Given the description of an element on the screen output the (x, y) to click on. 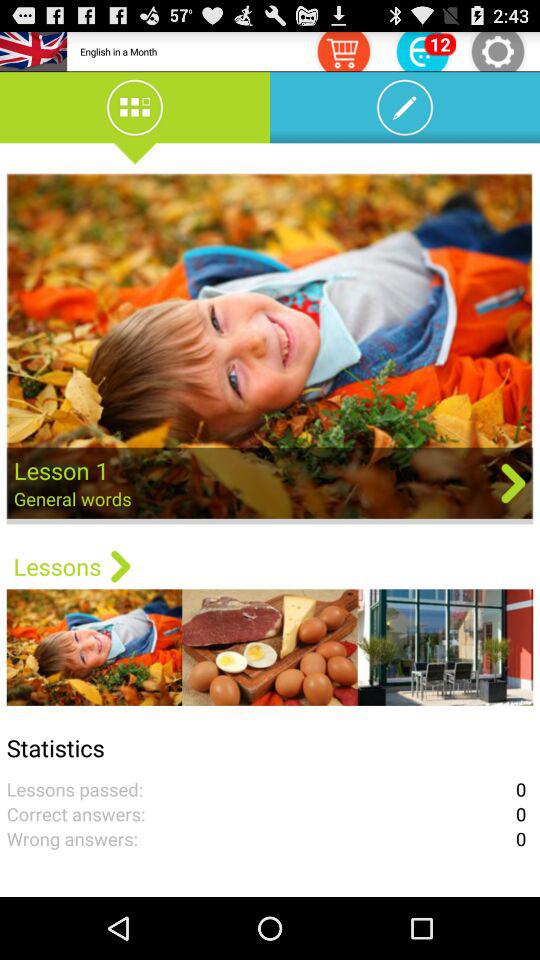
go to settings (497, 50)
